Given the description of an element on the screen output the (x, y) to click on. 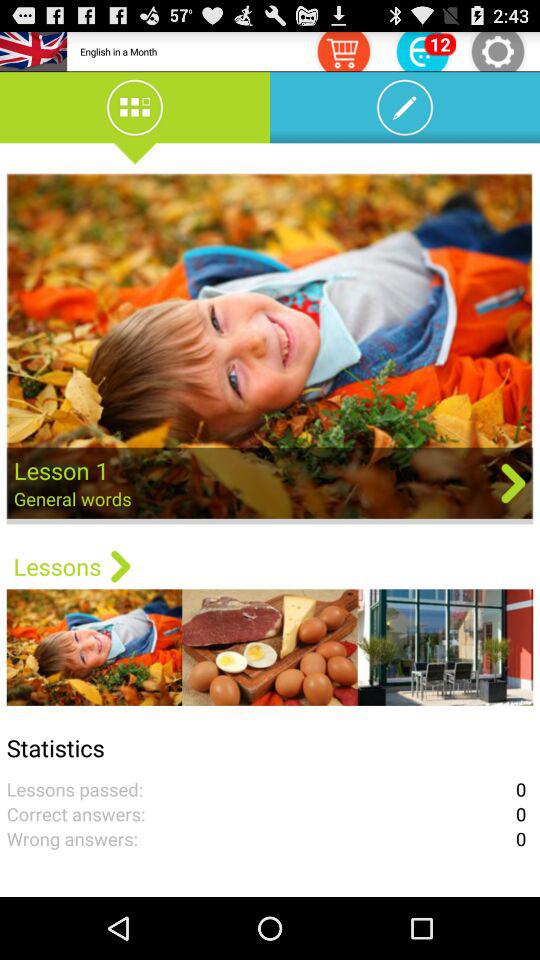
go to settings (497, 50)
